Given the description of an element on the screen output the (x, y) to click on. 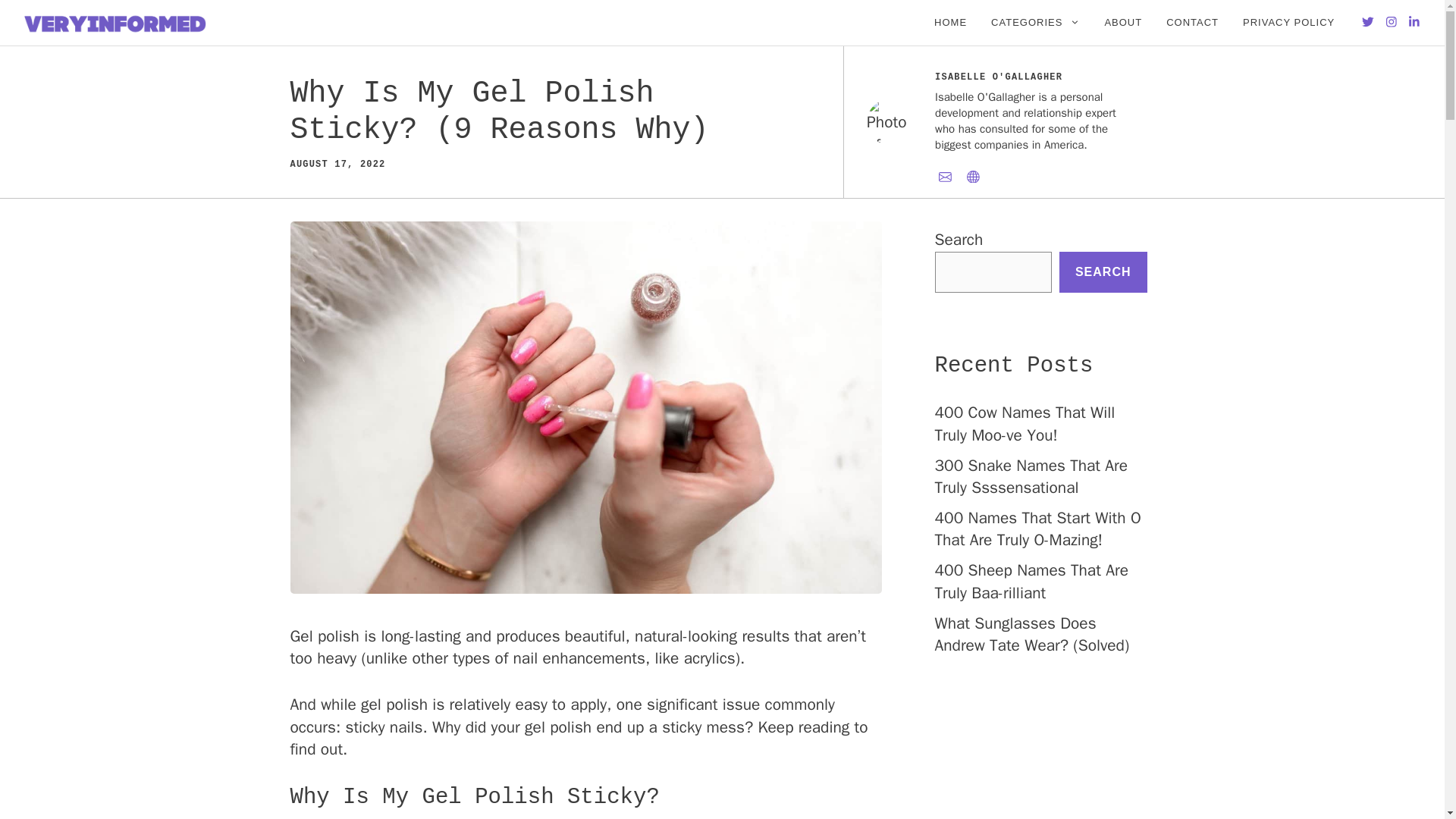
CATEGORIES (1035, 22)
ABOUT (1123, 22)
HOME (949, 22)
CONTACT (1192, 22)
PRIVACY POLICY (1288, 22)
